Given the description of an element on the screen output the (x, y) to click on. 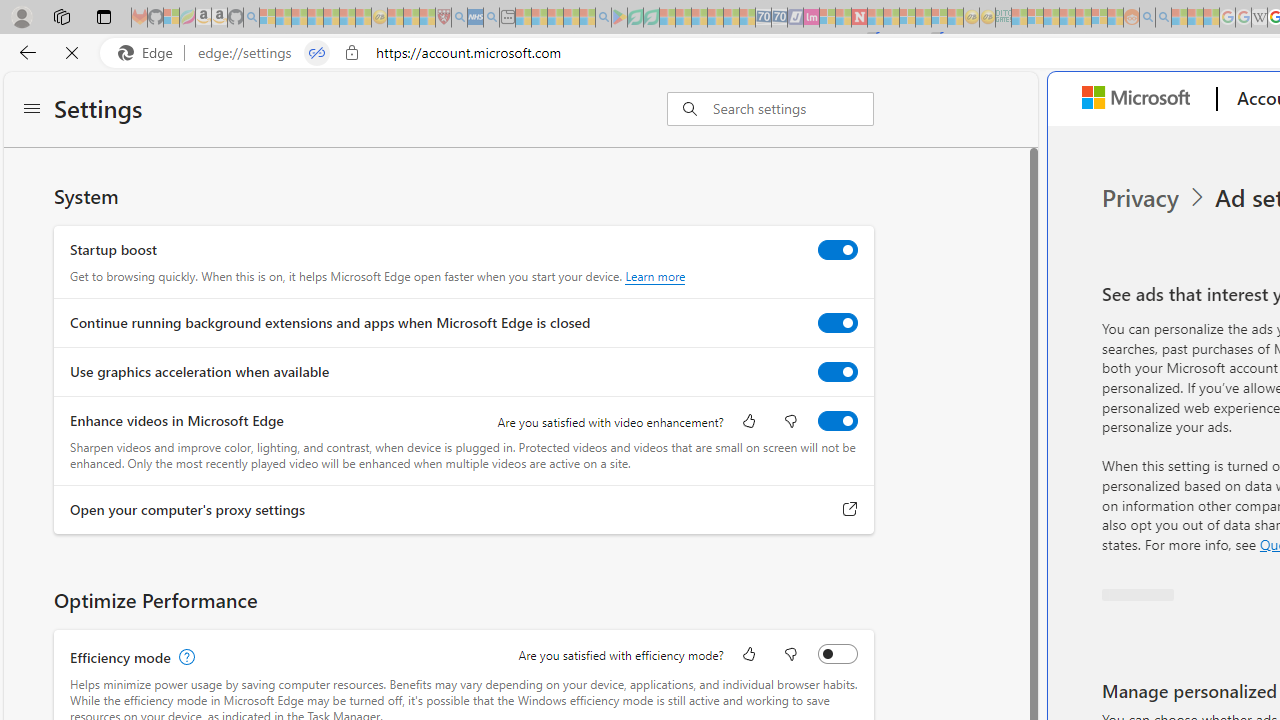
Enhance videos in Microsoft Edge (837, 421)
Pets - MSN - Sleeping (571, 17)
New Report Confirms 2023 Was Record Hot | Watch - Sleeping (331, 17)
Robert H. Shmerling, MD - Harvard Health - Sleeping (443, 17)
google - Search - Sleeping (603, 17)
Search settings (791, 109)
